Given the description of an element on the screen output the (x, y) to click on. 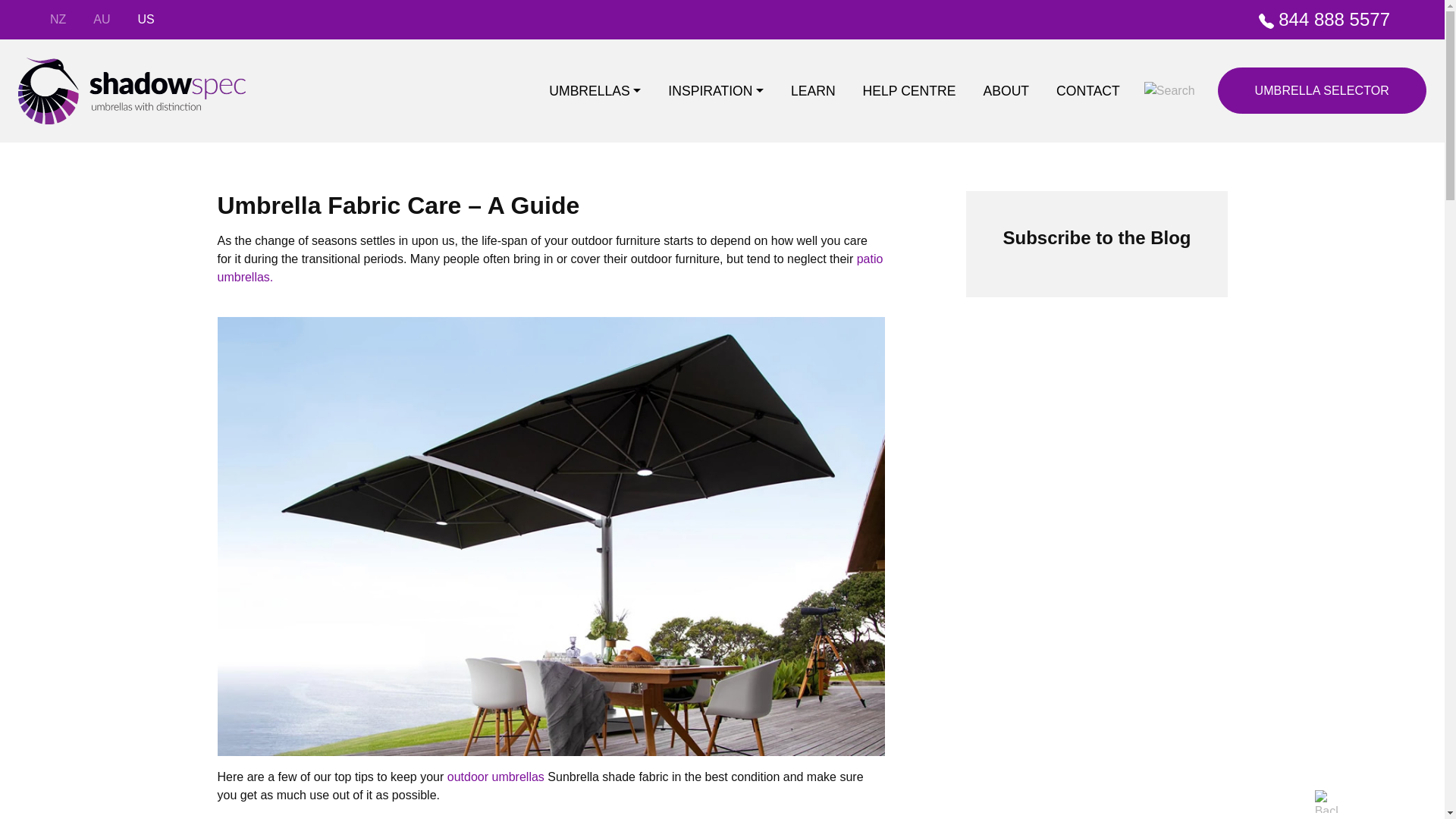
US (146, 19)
NZ (57, 19)
Shadowspec Umbrellas (131, 90)
AU (101, 19)
INSPIRATION (716, 91)
Search (1169, 90)
844 888 5577 (1321, 19)
UMBRELLAS (594, 91)
Phone (1266, 20)
